Given the description of an element on the screen output the (x, y) to click on. 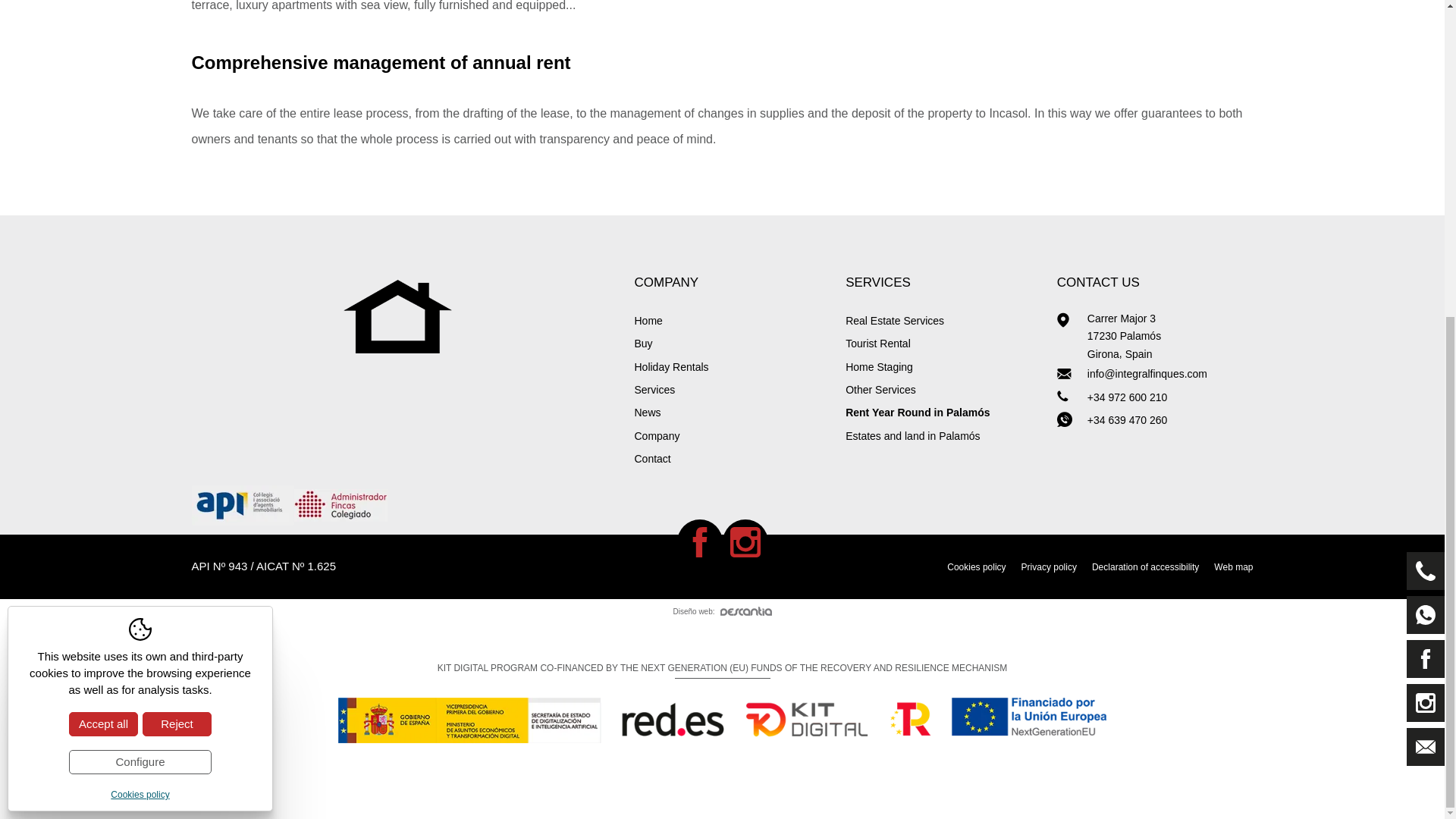
Contact (731, 458)
Other Services (943, 389)
Real Estate Services (943, 320)
Web map (1233, 567)
Buy (731, 343)
Instagram (744, 542)
News (731, 412)
Holiday Rentals (731, 366)
Company (731, 436)
Declaration of accessibility (1145, 567)
Home Staging (943, 366)
Home (731, 320)
Facebook (699, 542)
work (1072, 396)
cell (1072, 418)
